Given the description of an element on the screen output the (x, y) to click on. 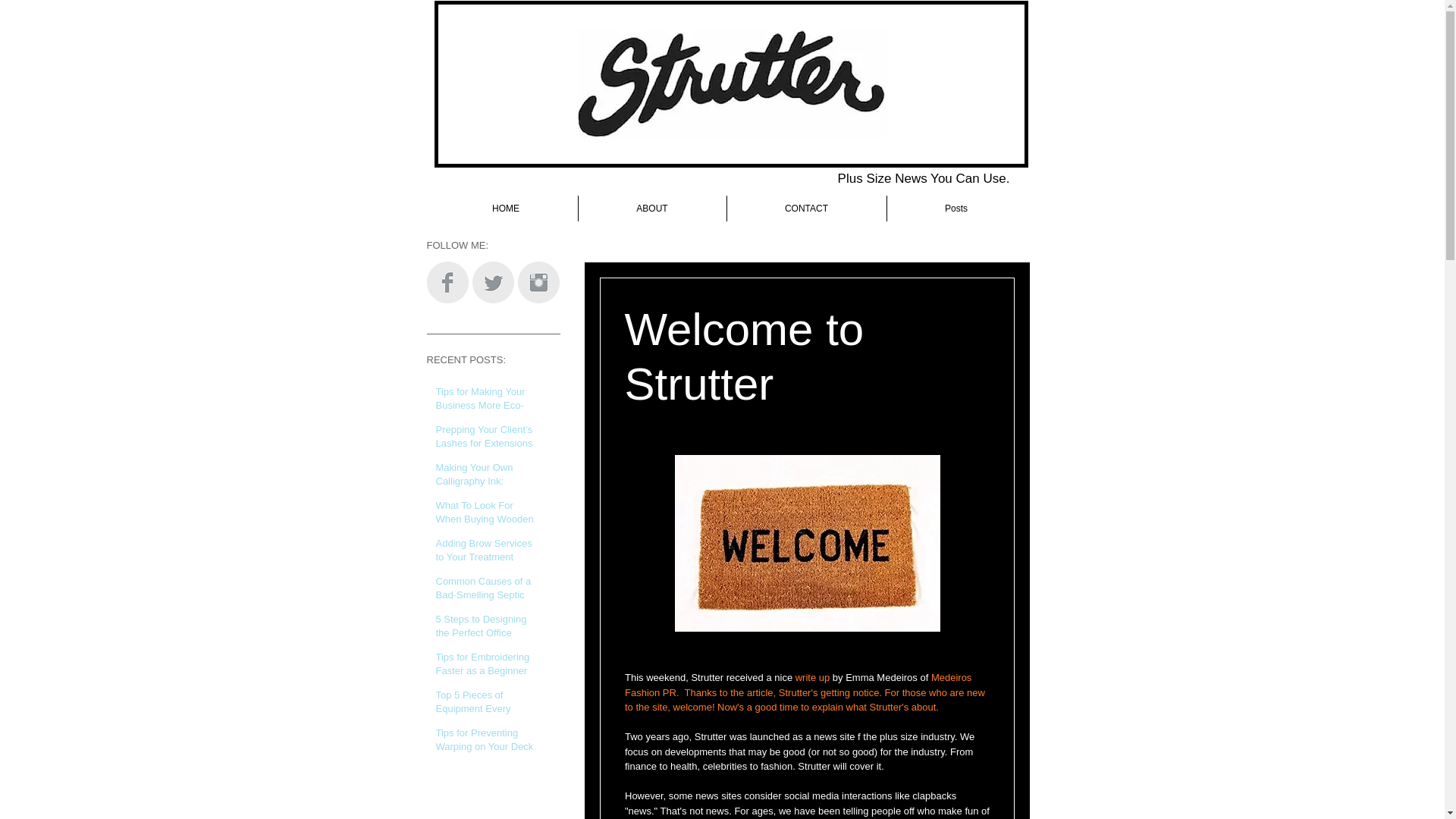
HOME (504, 208)
Adding Brow Services to Your Treatment Menu (485, 560)
Common Causes of a Bad-Smelling Septic Tank (485, 598)
Medeiros Fashion PR. (799, 684)
Making Your Own Calligraphy Ink: Recipes and Tips (485, 484)
ABOUT (652, 208)
Tips for Preventing Warping on Your Deck (485, 743)
Posts (955, 208)
Tips for Making Your Business More Eco-Friendly (485, 408)
Top 5 Pieces of Equipment Every Construction Site Needs (485, 712)
5 Steps to Designing the Perfect Office Space (485, 636)
CONTACT (806, 208)
Tips for Embroidering Faster as a Beginner (485, 666)
What To Look For When Buying Wooden Furniture (485, 522)
